Given the description of an element on the screen output the (x, y) to click on. 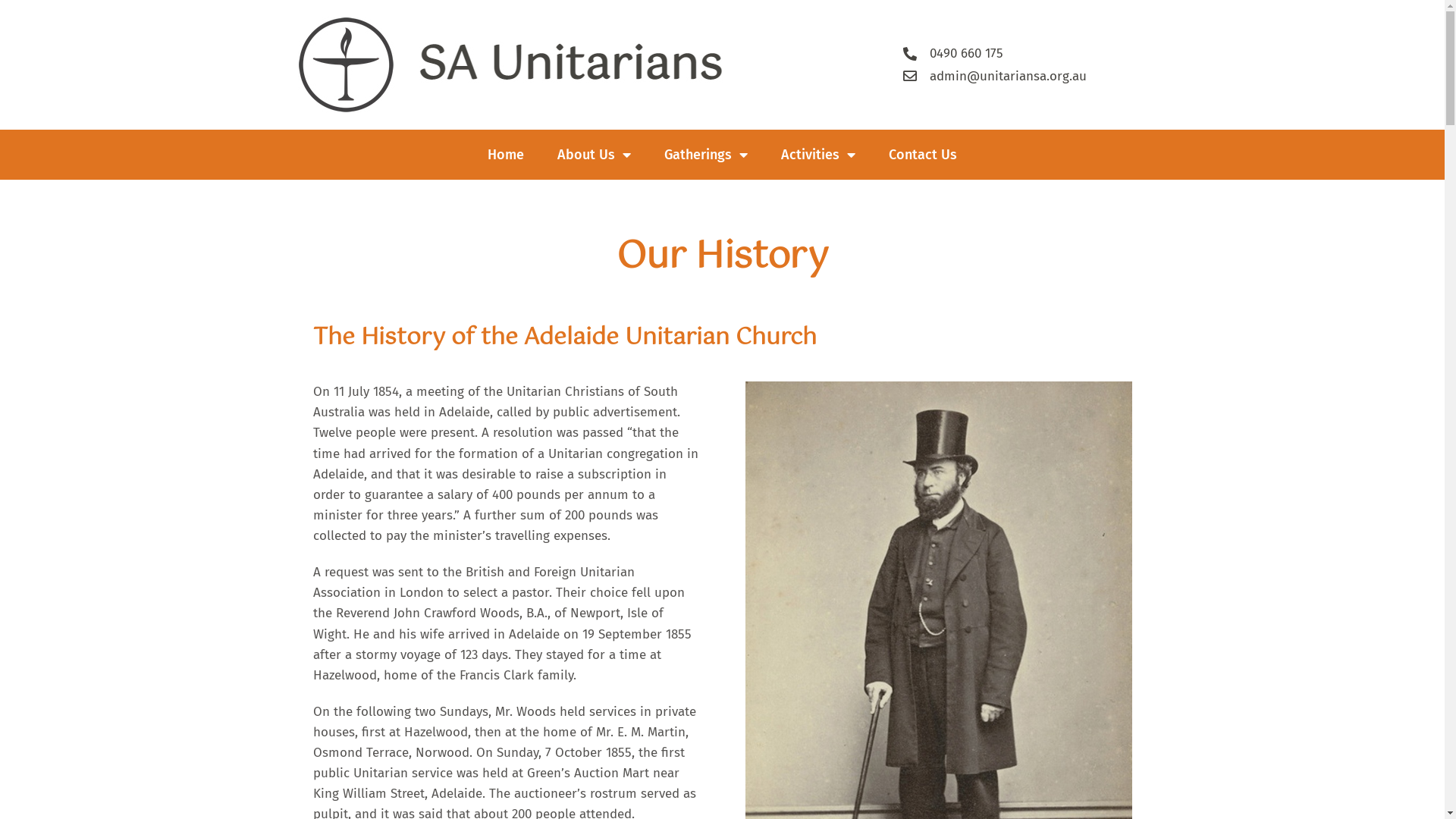
Home Element type: text (505, 154)
0490 660 175 Element type: text (1024, 53)
admin@unitariansa.org.au Element type: text (1024, 75)
Gatherings Element type: text (705, 154)
Contact Us Element type: text (922, 154)
About Us Element type: text (593, 154)
Activities Element type: text (818, 154)
